Given the description of an element on the screen output the (x, y) to click on. 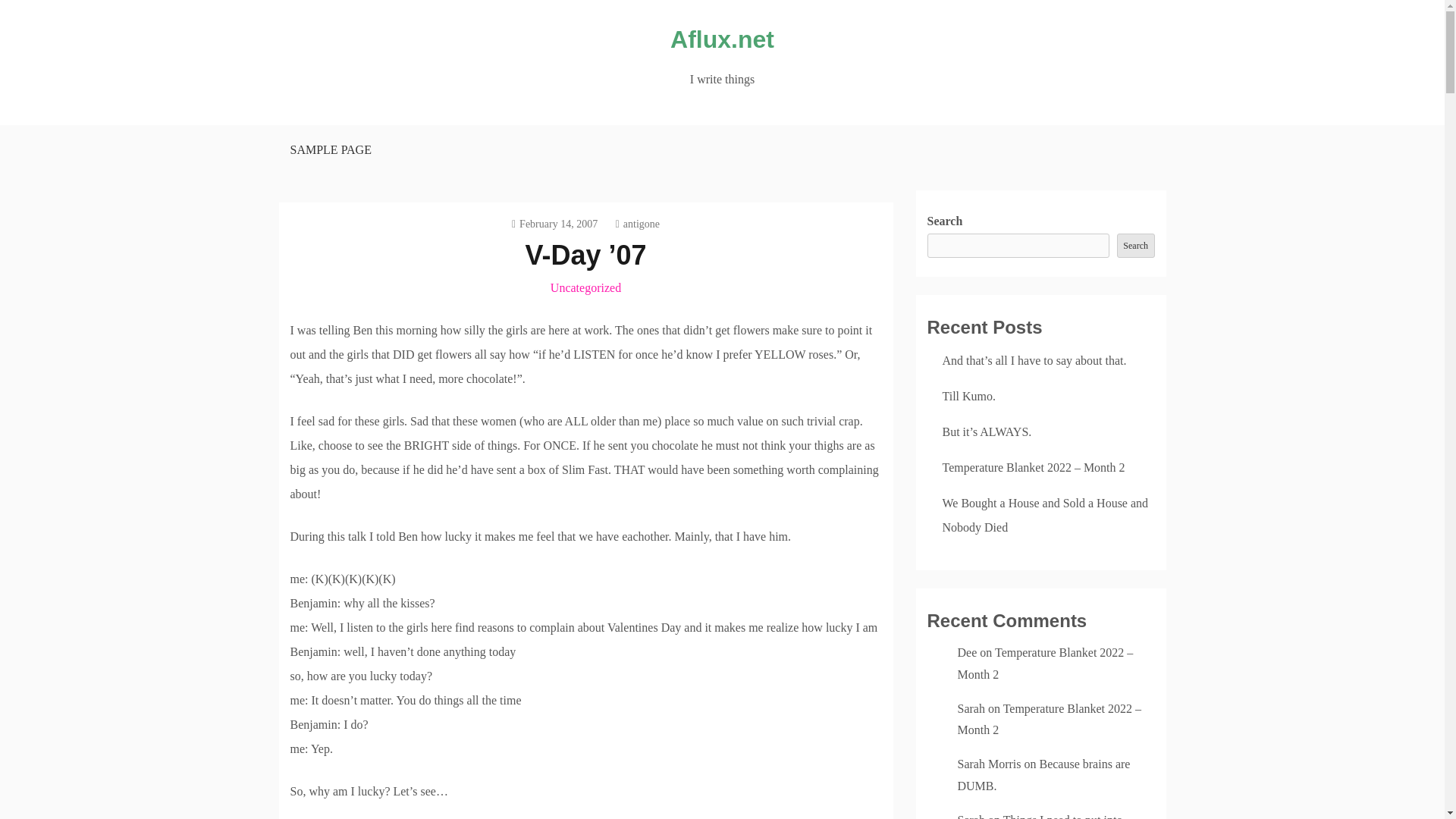
We Bought a House and Sold a House and Nobody Died (1045, 514)
Sarah (970, 707)
Uncategorized (585, 287)
SAMPLE PAGE (329, 150)
antigone (637, 224)
February 14, 2007 (554, 224)
Till Kumo. (968, 395)
Dee (966, 652)
Because brains are DUMB. (1042, 774)
Aflux.net (721, 39)
Search (1135, 245)
